Given the description of an element on the screen output the (x, y) to click on. 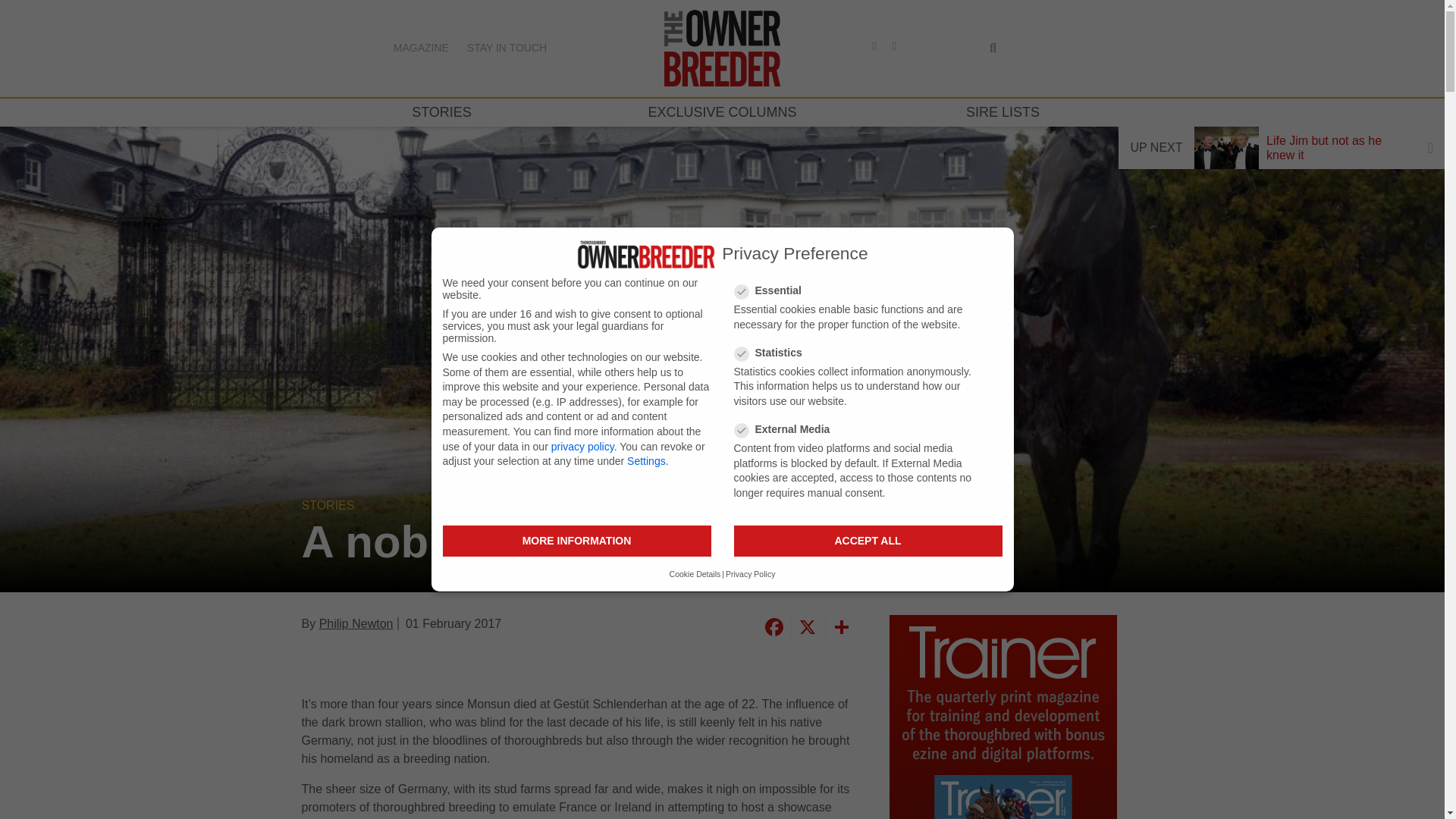
STAY IN TOUCH (507, 48)
EXCLUSIVE COLUMNS (721, 111)
SIRE LISTS (1002, 111)
Philip Newton (355, 623)
Facebook (772, 628)
MAGAZINE (420, 47)
X (805, 628)
STORIES (441, 111)
